Given the description of an element on the screen output the (x, y) to click on. 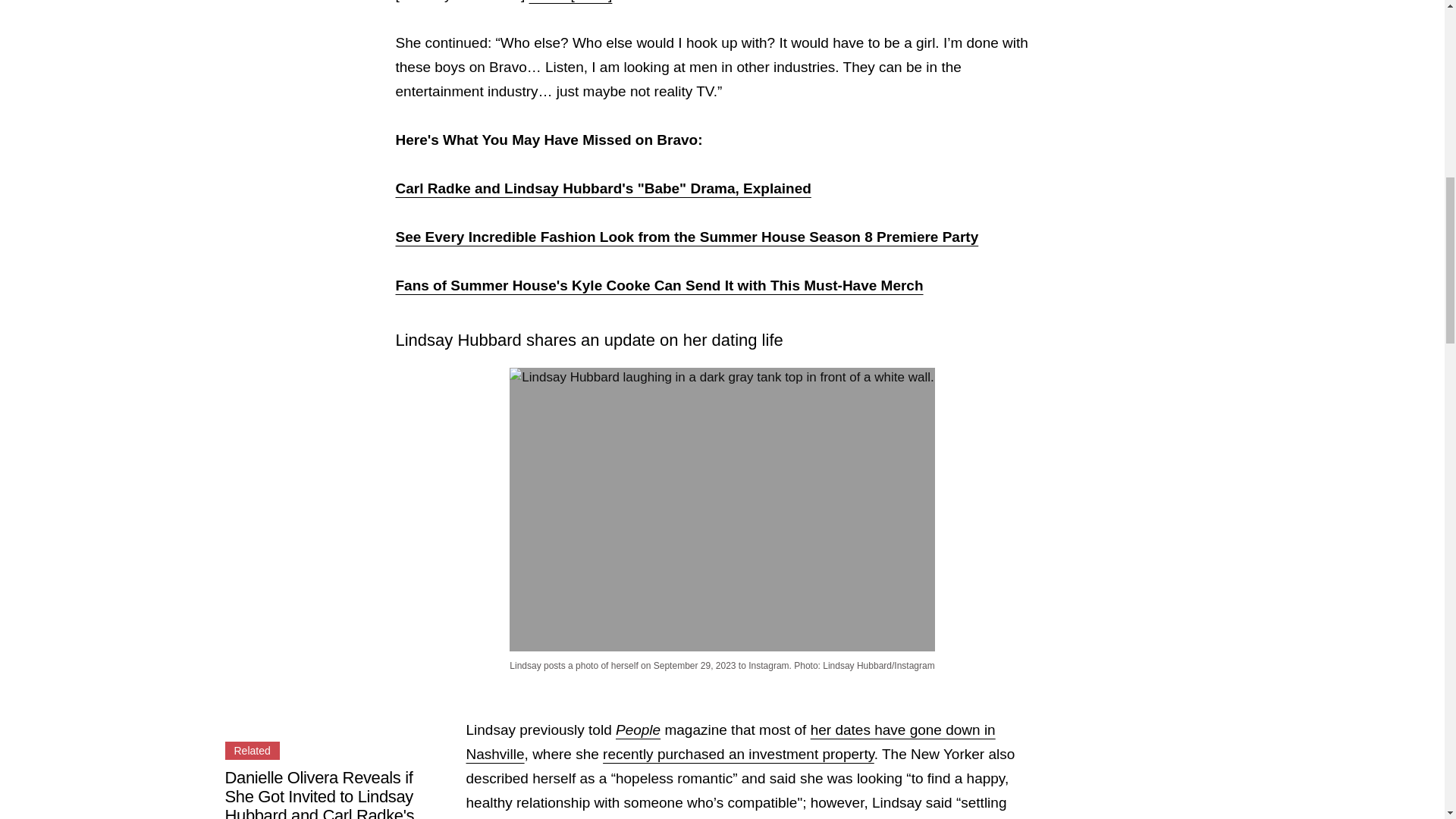
Carl Radke and Lindsay Hubbard's "Babe" Drama, Explained (603, 188)
